Given the description of an element on the screen output the (x, y) to click on. 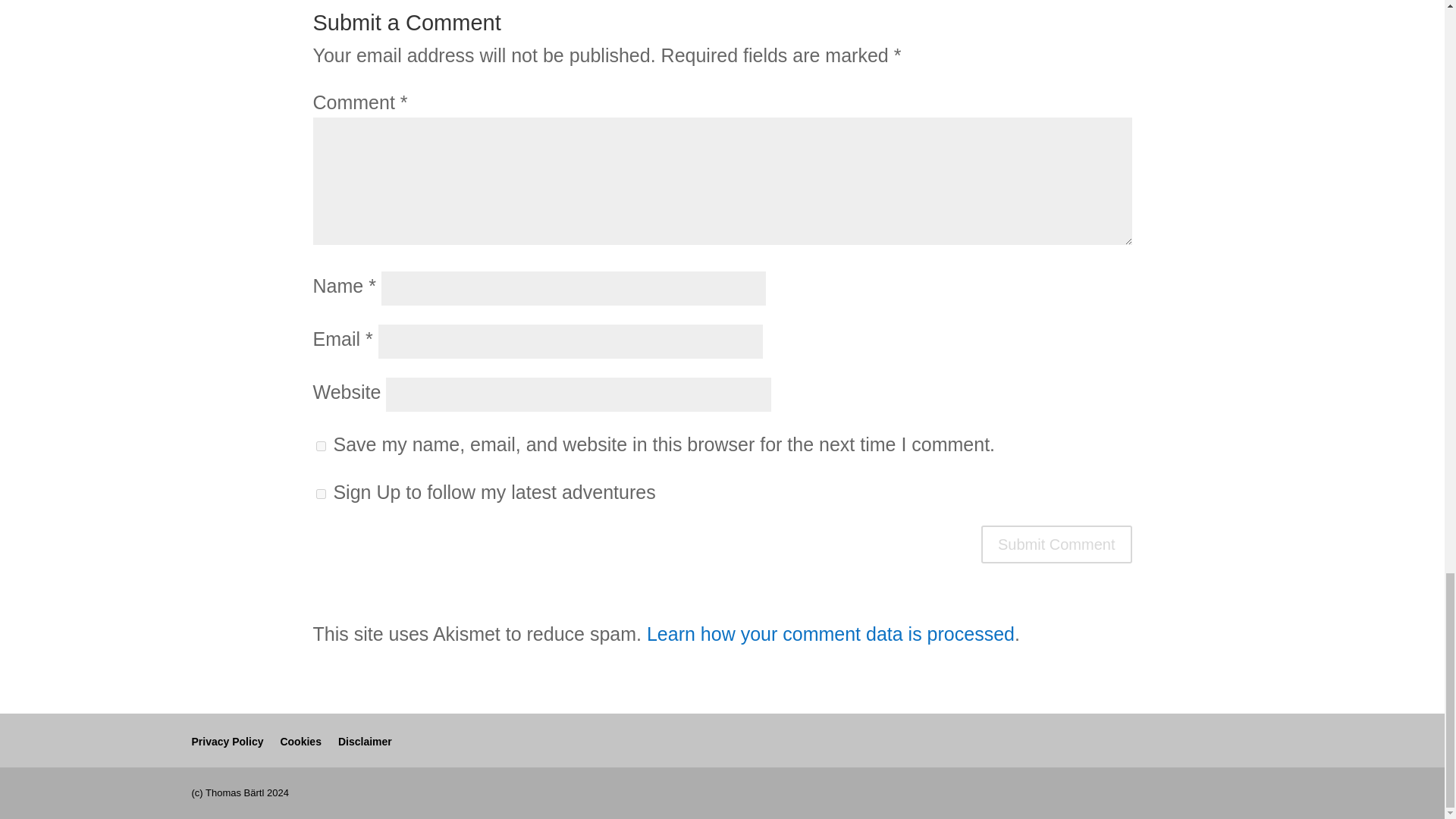
Submit Comment (1056, 544)
Learn how your comment data is processed (830, 633)
1 (319, 493)
Privacy Policy (226, 740)
Submit Comment (1056, 544)
Cookies (299, 740)
Disclaimer (364, 740)
yes (319, 446)
